Given the description of an element on the screen output the (x, y) to click on. 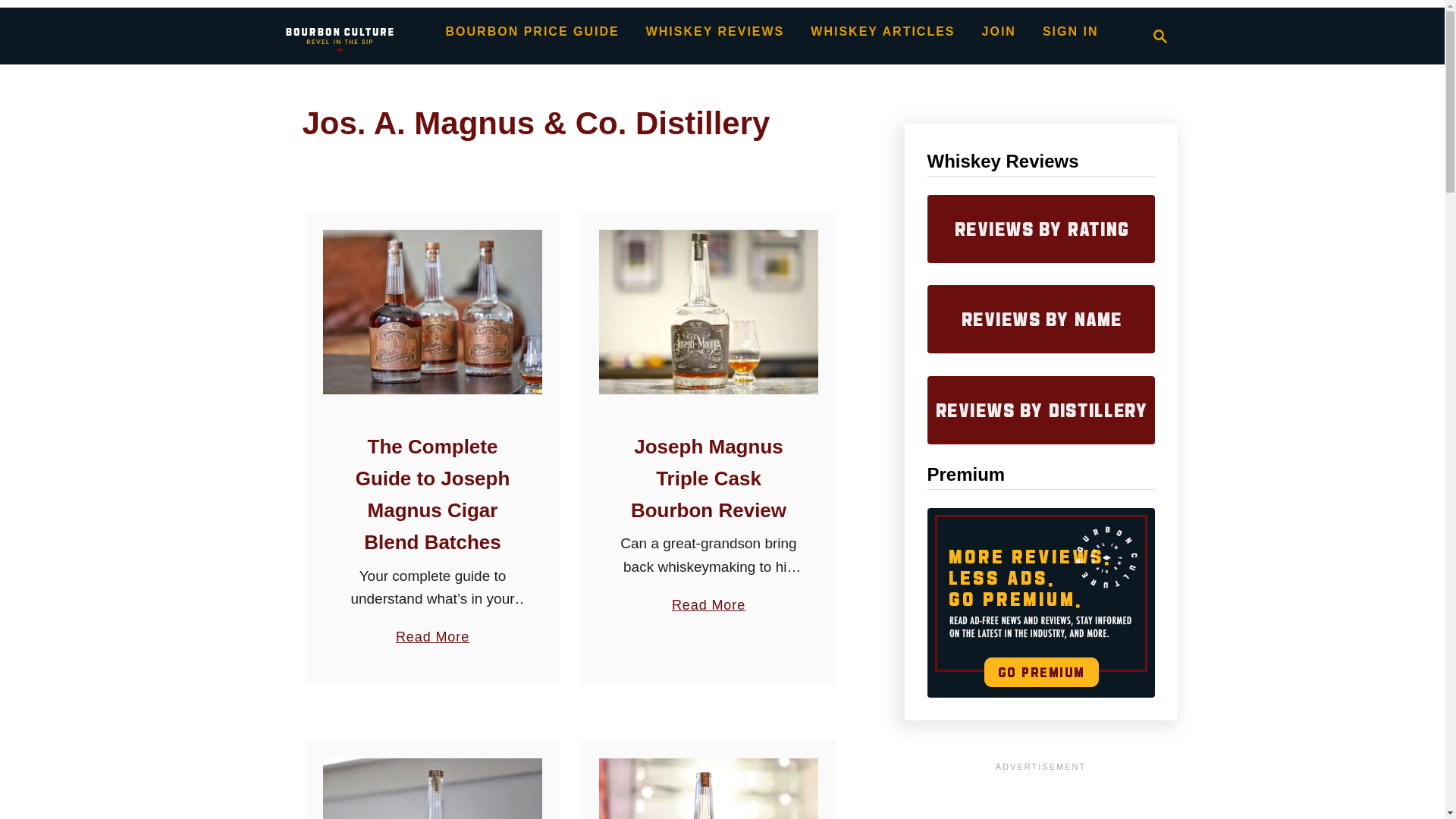
Joseph Magnus Triple Cask Bourbon Review (708, 478)
The Complete Guide to Joseph Magnus Cigar Blend Batches (1155, 36)
The Complete Guide to Joseph Magnus Cigar Blend Batches (708, 597)
WHISKEY ARTICLES (432, 311)
Joseph Magnus Triple Cask Bourbon Review (433, 494)
Magnifying Glass (882, 31)
Bourbon Culture (708, 311)
SIGN IN (1160, 36)
Joseph Magnus Single Barrel Bourbon Whiskey Review (339, 35)
BOURBON PRICE GUIDE (1070, 31)
Joseph Magnus Bourbon Review (432, 788)
JOIN (532, 31)
